Given the description of an element on the screen output the (x, y) to click on. 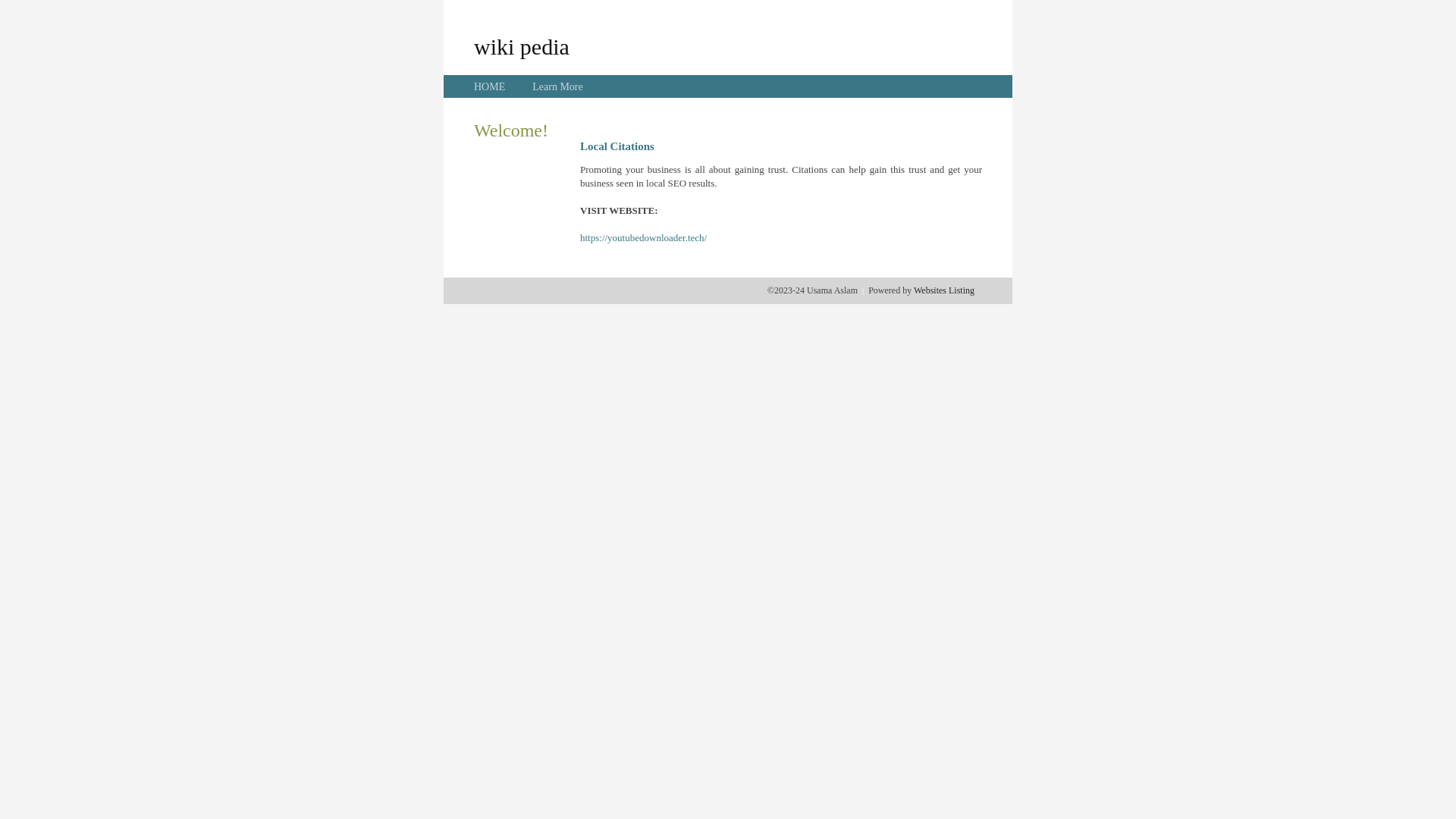
wiki pedia Element type: text (521, 46)
Websites Listing Element type: text (943, 290)
https://youtubedownloader.tech/ Element type: text (643, 237)
HOME Element type: text (489, 86)
Learn More Element type: text (557, 86)
